Given the description of an element on the screen output the (x, y) to click on. 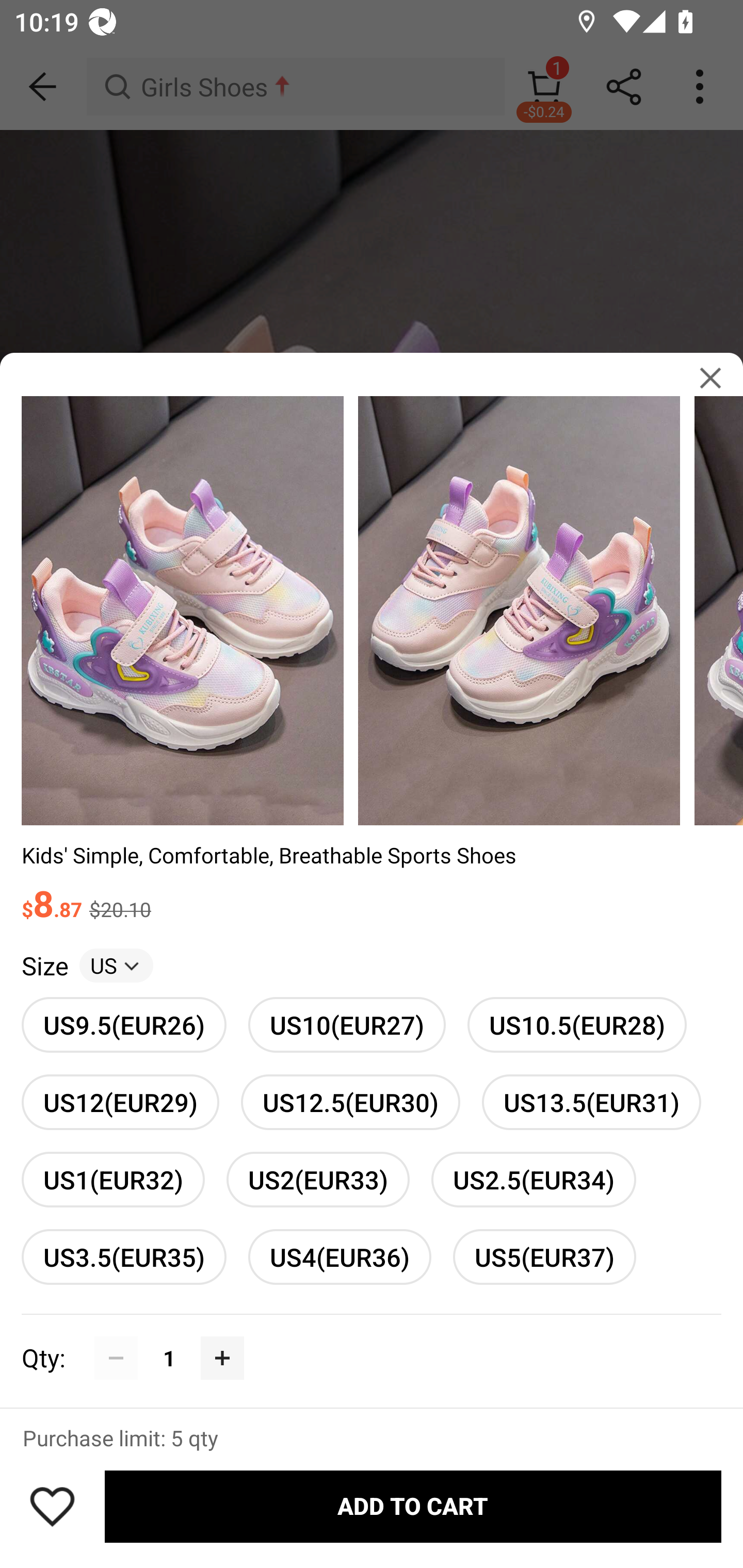
Size (44, 965)
US (116, 965)
US9.5(EUR26) US9.5(EUR26)unselected option (123, 1024)
US10(EUR27) US10(EUR27)unselected option (346, 1024)
US10.5(EUR28) US10.5(EUR28)unselected option (576, 1024)
US12(EUR29) US12(EUR29)unselected option (120, 1102)
US12.5(EUR30) US12.5(EUR30)unselected option (349, 1102)
US13.5(EUR31) US13.5(EUR31)unselected option (591, 1102)
US1(EUR32) US1(EUR32)unselected option (113, 1179)
US2(EUR33) US2(EUR33)unselected option (317, 1179)
US2.5(EUR34) US2.5(EUR34)unselected option (533, 1179)
US3.5(EUR35) US3.5(EUR35)unselected option (123, 1256)
US4(EUR36) US4(EUR36)unselected option (339, 1256)
US5(EUR37) US5(EUR37)unselected option (544, 1256)
ADD TO CART (412, 1506)
Save (52, 1505)
